Given the description of an element on the screen output the (x, y) to click on. 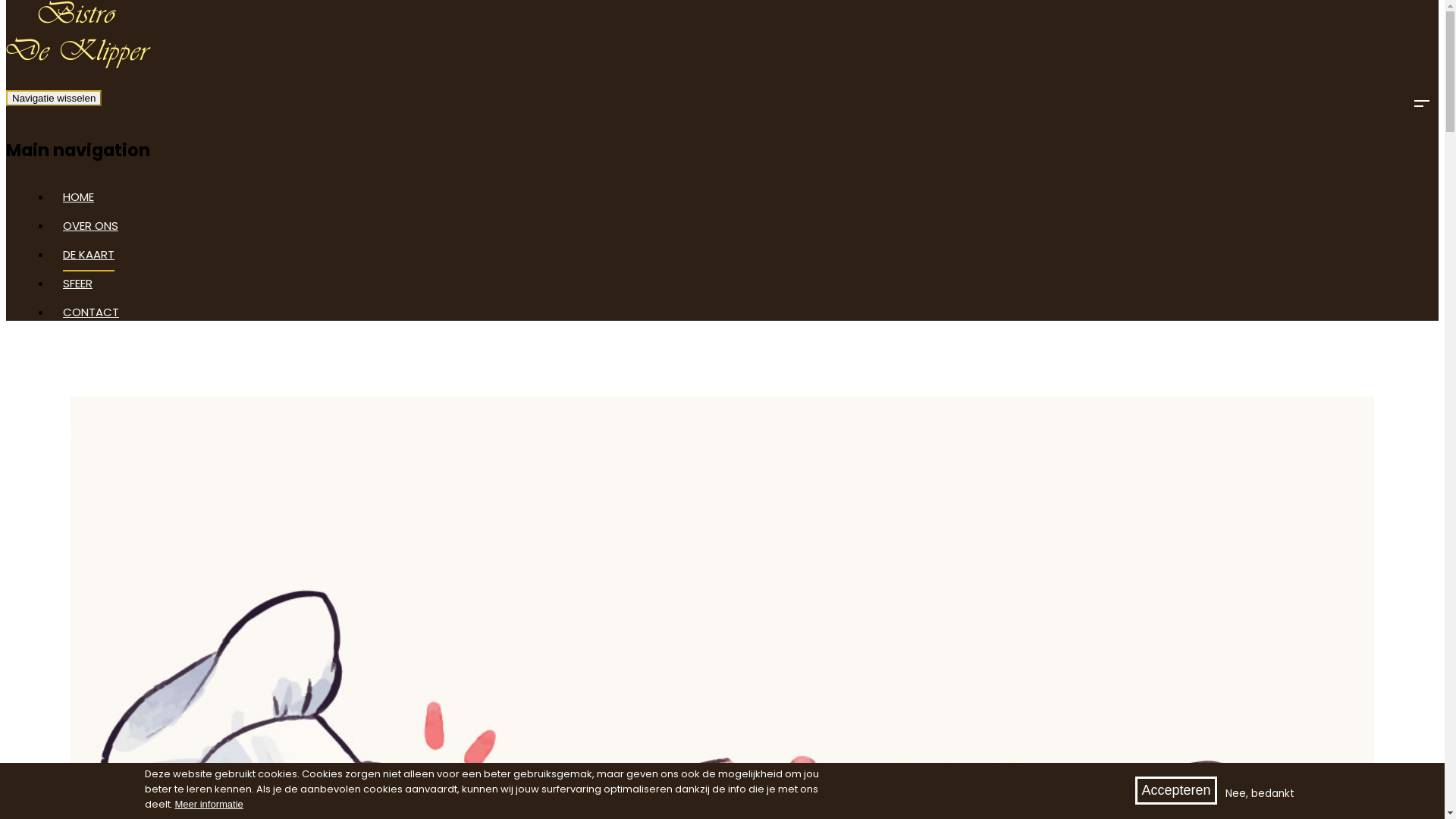
Meer informatie Element type: text (208, 803)
DE KAART Element type: text (88, 258)
Accepteren Element type: text (1175, 790)
Navigatie wisselen Element type: text (53, 98)
Bistro De Klipper - Oostduinkerke Element type: text (6, 0)
Home Element type: hover (78, 64)
CONTACT Element type: text (90, 316)
SFEER Element type: text (77, 287)
HOME Element type: text (78, 200)
OVER ONS Element type: text (90, 229)
Nee, bedankt Element type: text (1259, 793)
